Given the description of an element on the screen output the (x, y) to click on. 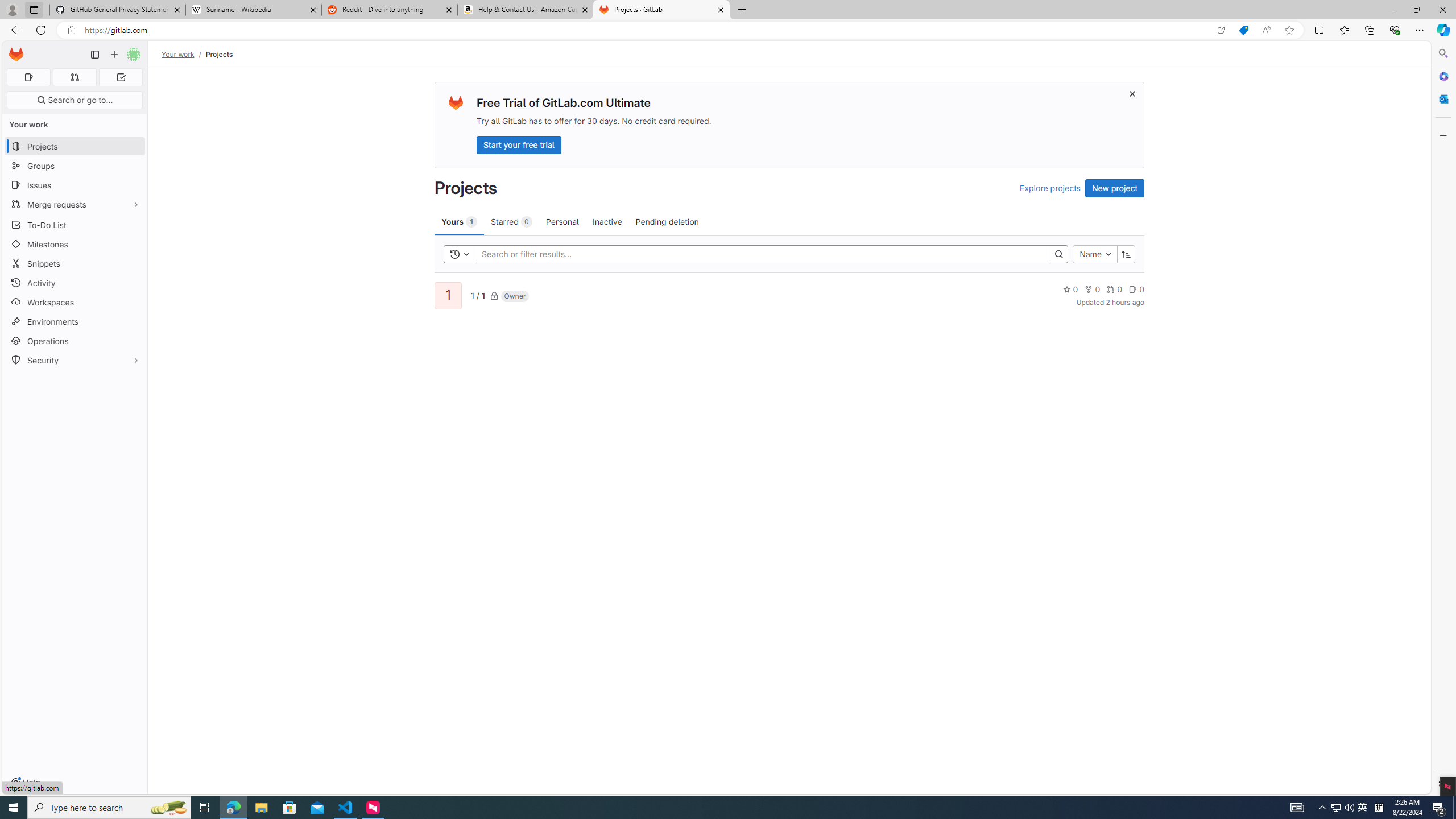
Sort direction: Ascending (1125, 253)
Activity (74, 282)
Security (74, 359)
Yours 1 (458, 221)
11 / 1Owner0000Updated 2 hours ago (788, 295)
Your work/ (183, 53)
To-Do List (74, 224)
Personal (561, 221)
Suriname - Wikipedia (253, 9)
Start your free trial (519, 144)
